Given the description of an element on the screen output the (x, y) to click on. 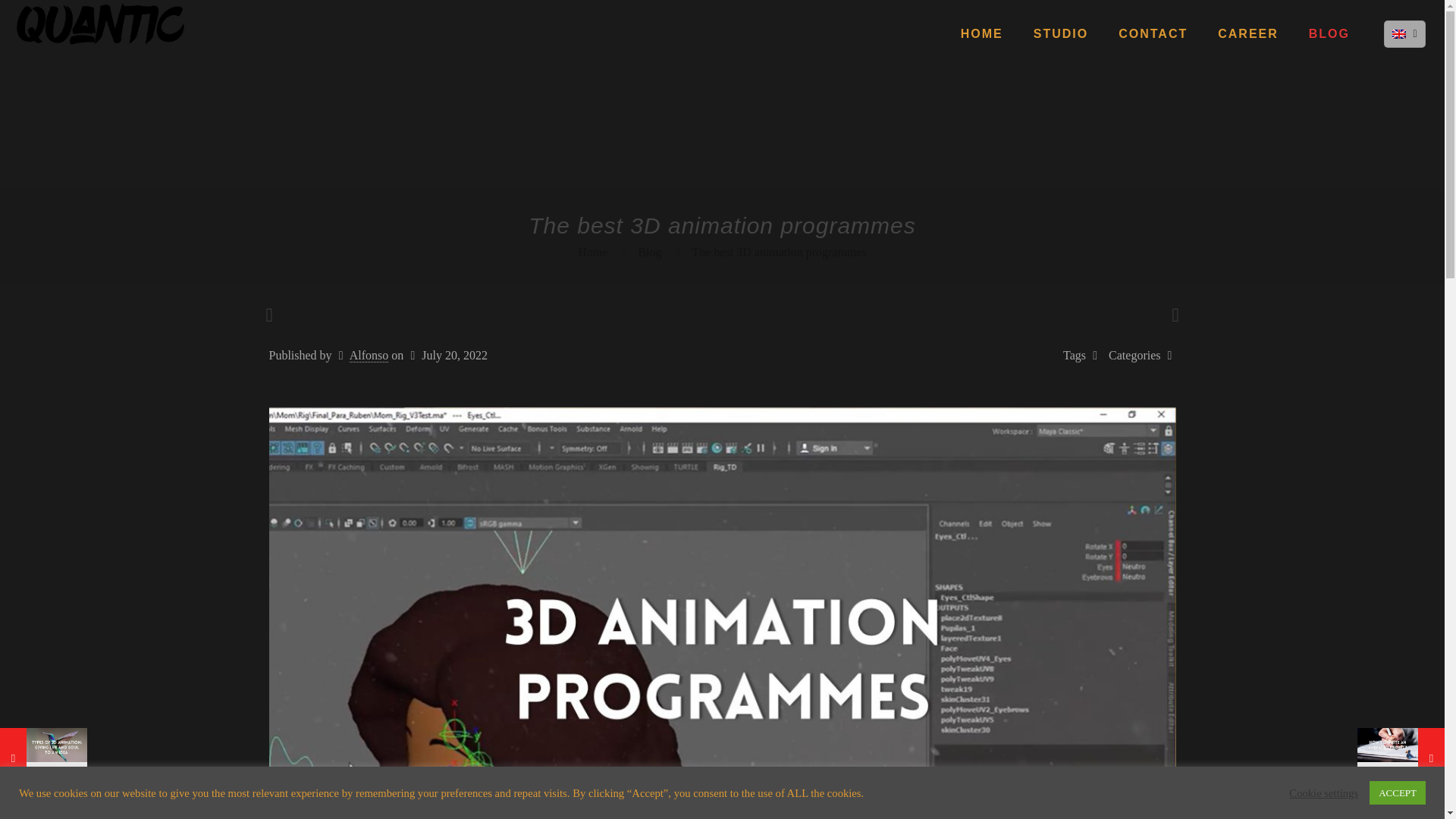
STUDIO (1060, 33)
Home (592, 251)
Alfonso (368, 355)
Quantic Animation (100, 22)
Blog (649, 251)
CONTACT (1152, 33)
CAREER (1248, 33)
HOME (980, 33)
BLOG (1329, 33)
